Given the description of an element on the screen output the (x, y) to click on. 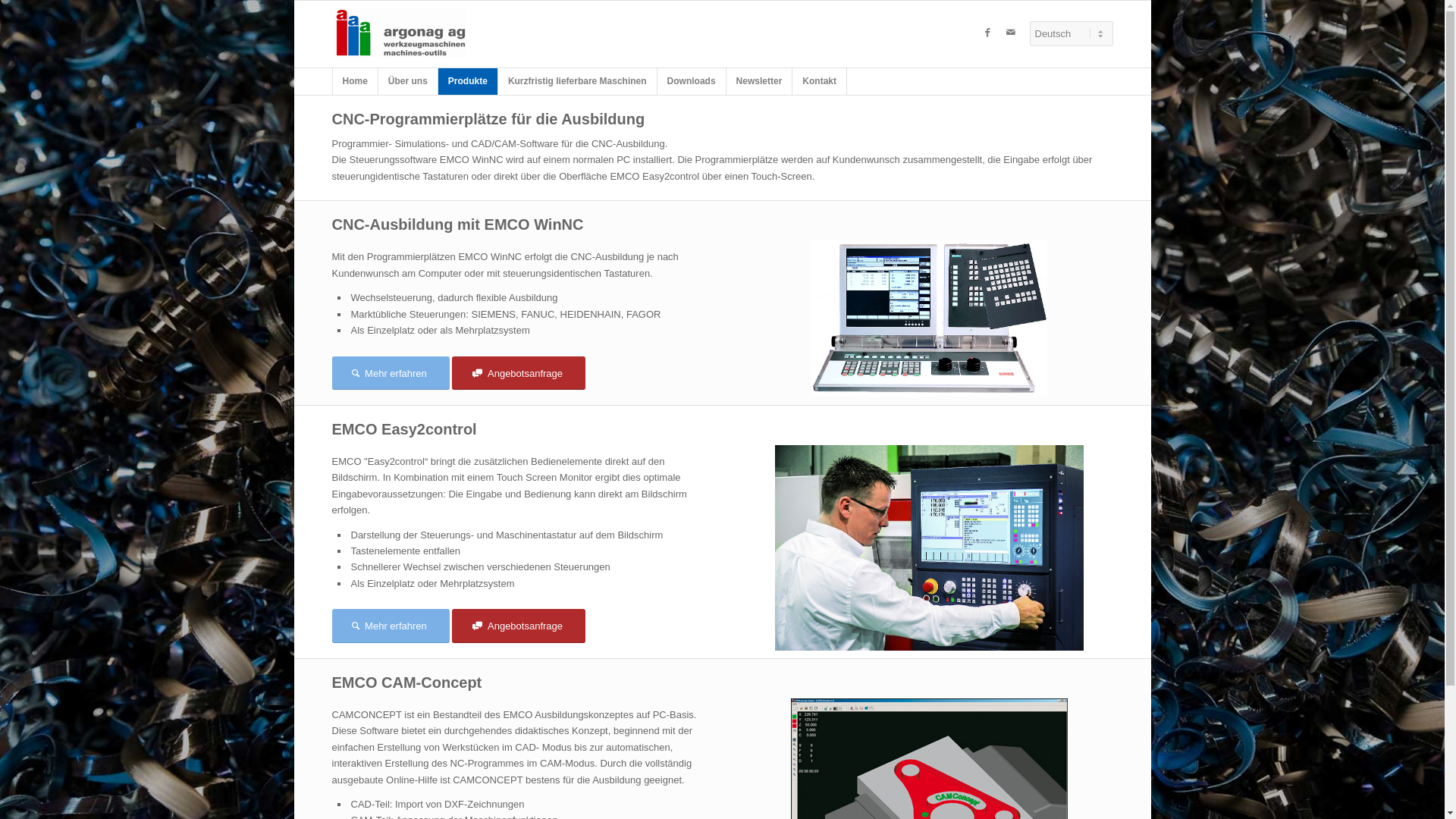
Angebotsanfrage Element type: text (518, 373)
Mehr erfahren Element type: text (390, 373)
argonag ag Element type: hover (399, 32)
Home Element type: text (355, 81)
Newsletter Element type: text (759, 81)
CNC-Ausbildung mit EMCO WinNC Element type: hover (928, 318)
Mehr erfahren Element type: text (390, 625)
Produkte Element type: text (468, 81)
EMCO Easy2control Element type: hover (928, 547)
Kurzfristig lieferbare Maschinen Element type: text (577, 81)
Facebook Element type: hover (987, 32)
Downloads Element type: text (691, 81)
Kontakt Element type: text (819, 81)
Mail Element type: hover (1010, 32)
Angebotsanfrage Element type: text (518, 625)
